Given the description of an element on the screen output the (x, y) to click on. 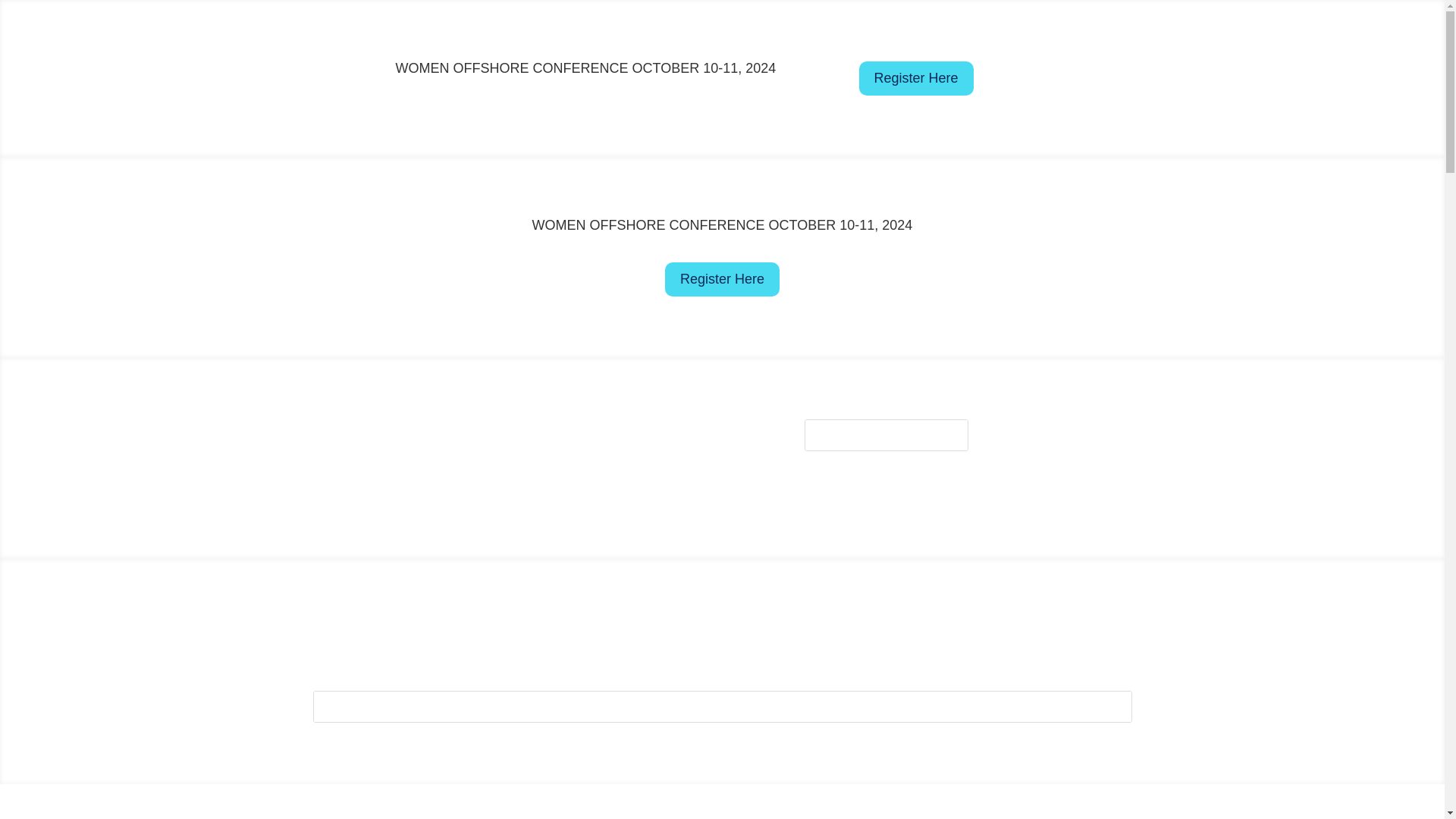
Search (1104, 706)
Follow on Facebook (618, 631)
Follow on Facebook (991, 431)
Follow on iTunes (1112, 431)
Follow on LinkedIn (1052, 461)
Search (1104, 706)
Follow on LinkedIn (770, 631)
Follow on Podcast (830, 631)
Follow on Podcast (1112, 461)
Register Here (721, 279)
